Given the description of an element on the screen output the (x, y) to click on. 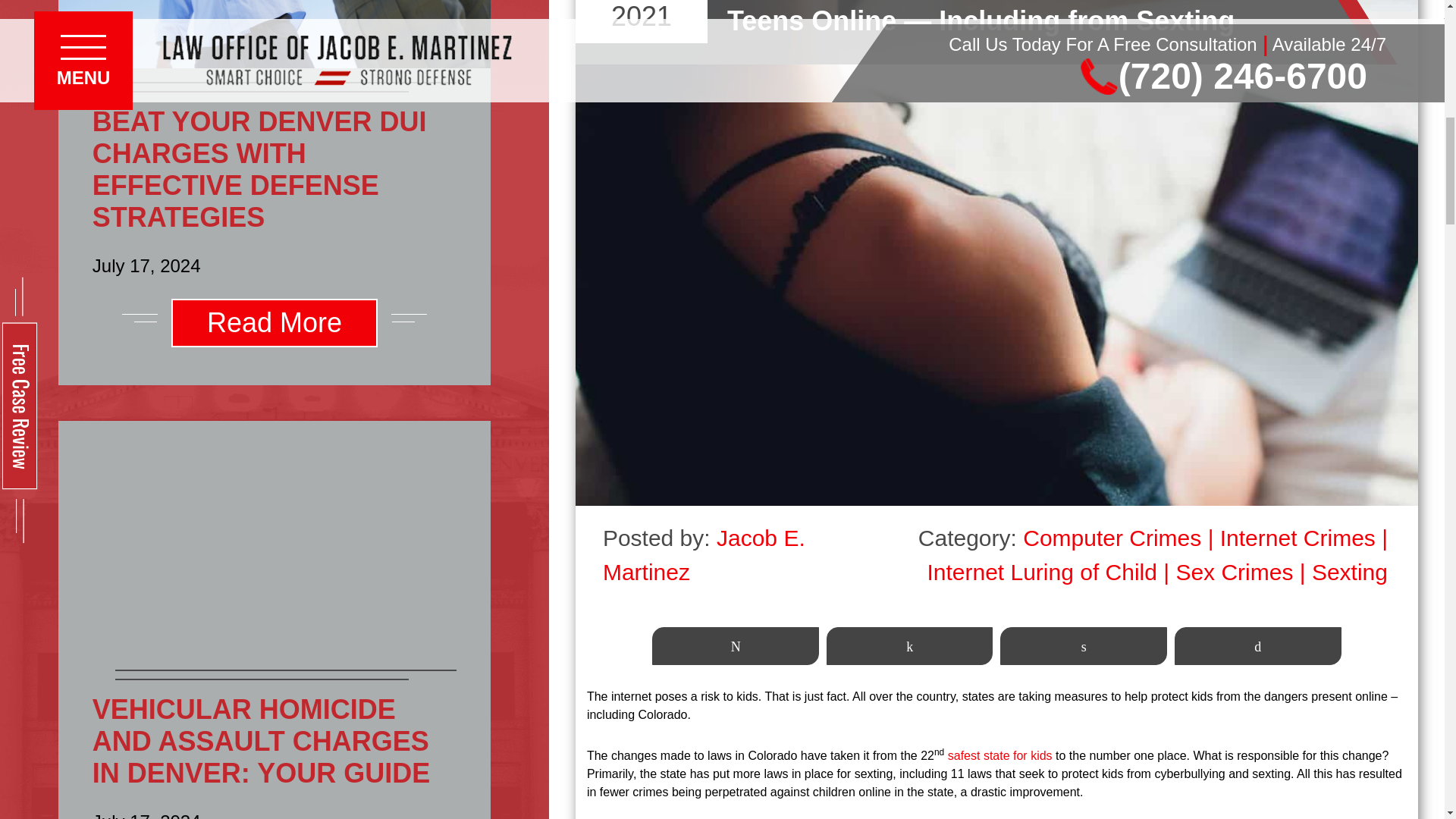
Vehicular Homicide and Assault Charges in Denver: Your Guide (274, 538)
